Given the description of an element on the screen output the (x, y) to click on. 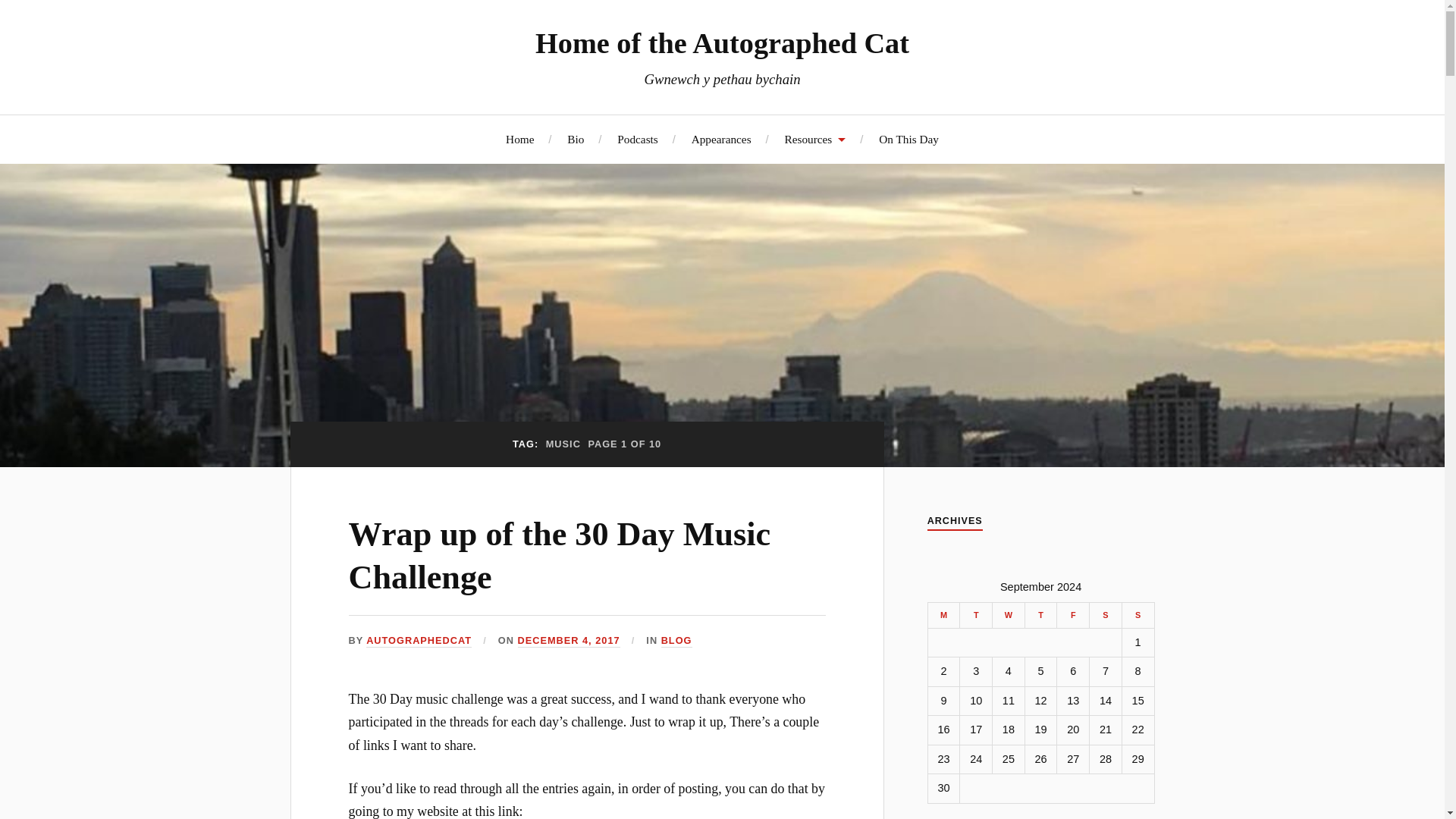
Home of the Autographed Cat (721, 42)
AUTOGRAPHEDCAT (418, 640)
Resources (814, 138)
DECEMBER 4, 2017 (569, 640)
Wrap up of the 30 Day Music Challenge (559, 555)
Appearances (721, 138)
On This Day (909, 138)
BLOG (677, 640)
Posts by autographedcat (418, 640)
